Given the description of an element on the screen output the (x, y) to click on. 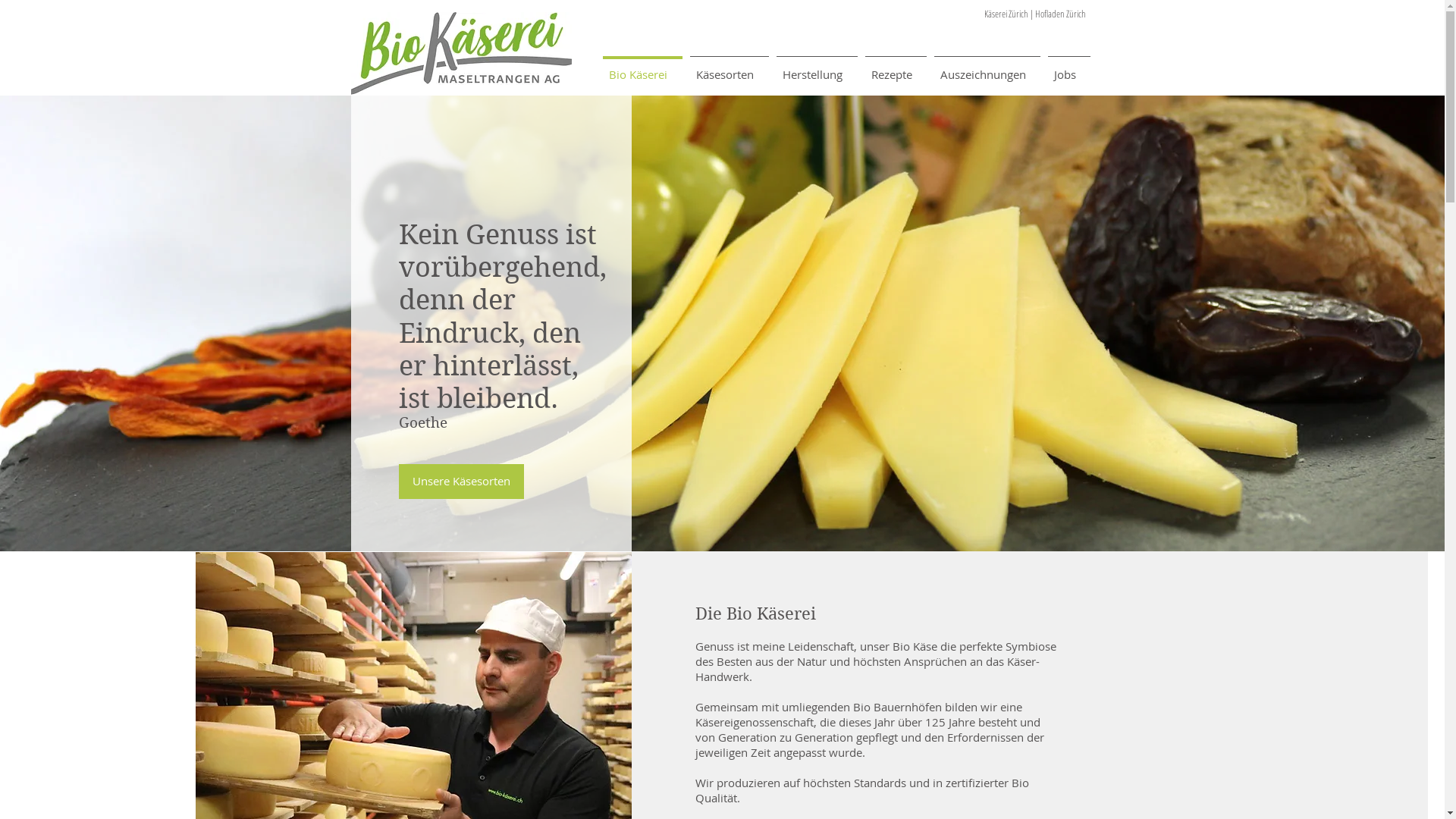
Jobs Element type: text (1068, 67)
Rezepte Element type: text (895, 67)
Auszeichnungen Element type: text (986, 67)
Herstellung Element type: text (815, 67)
